Given the description of an element on the screen output the (x, y) to click on. 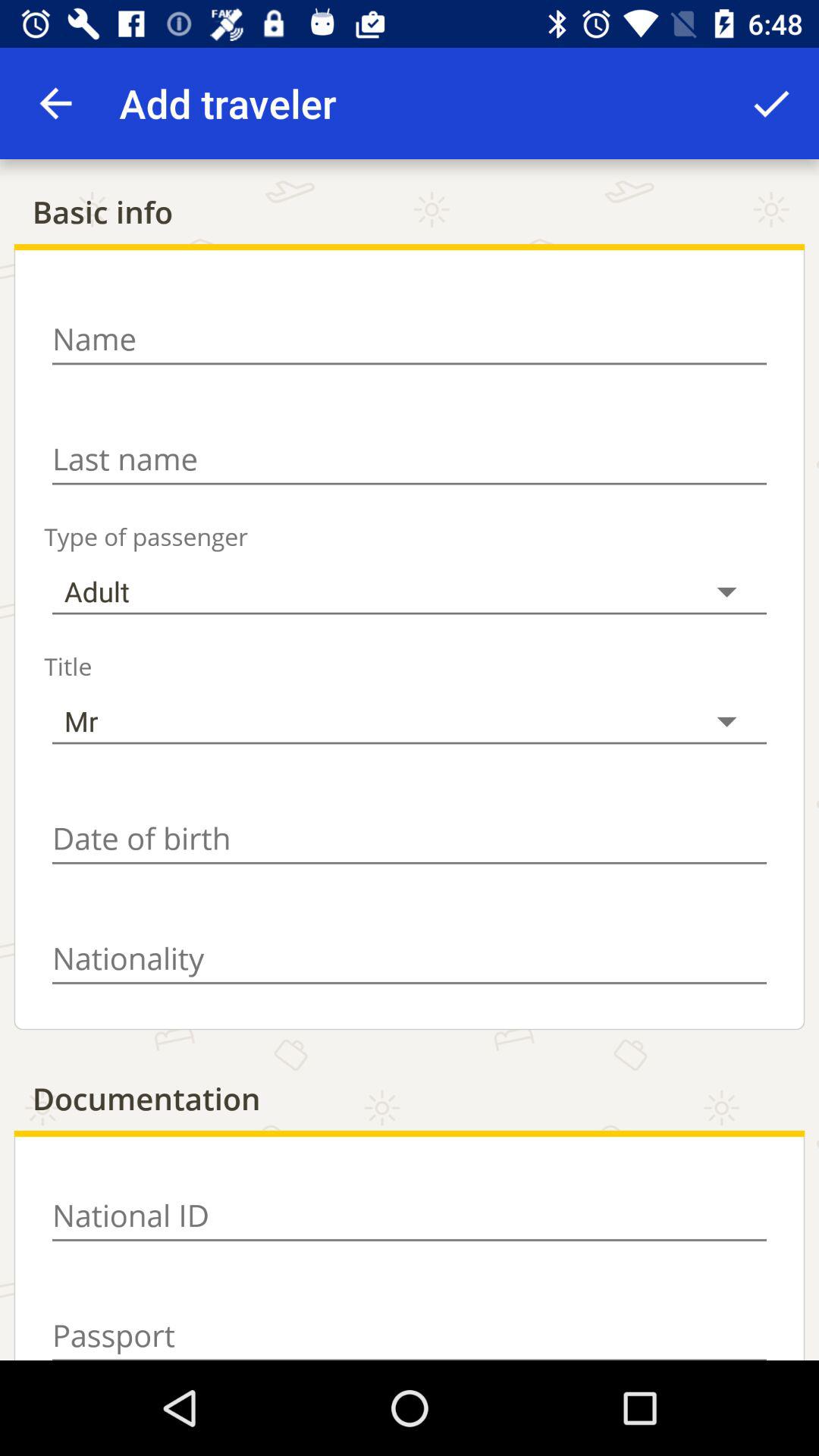
enter nationality (409, 958)
